Given the description of an element on the screen output the (x, y) to click on. 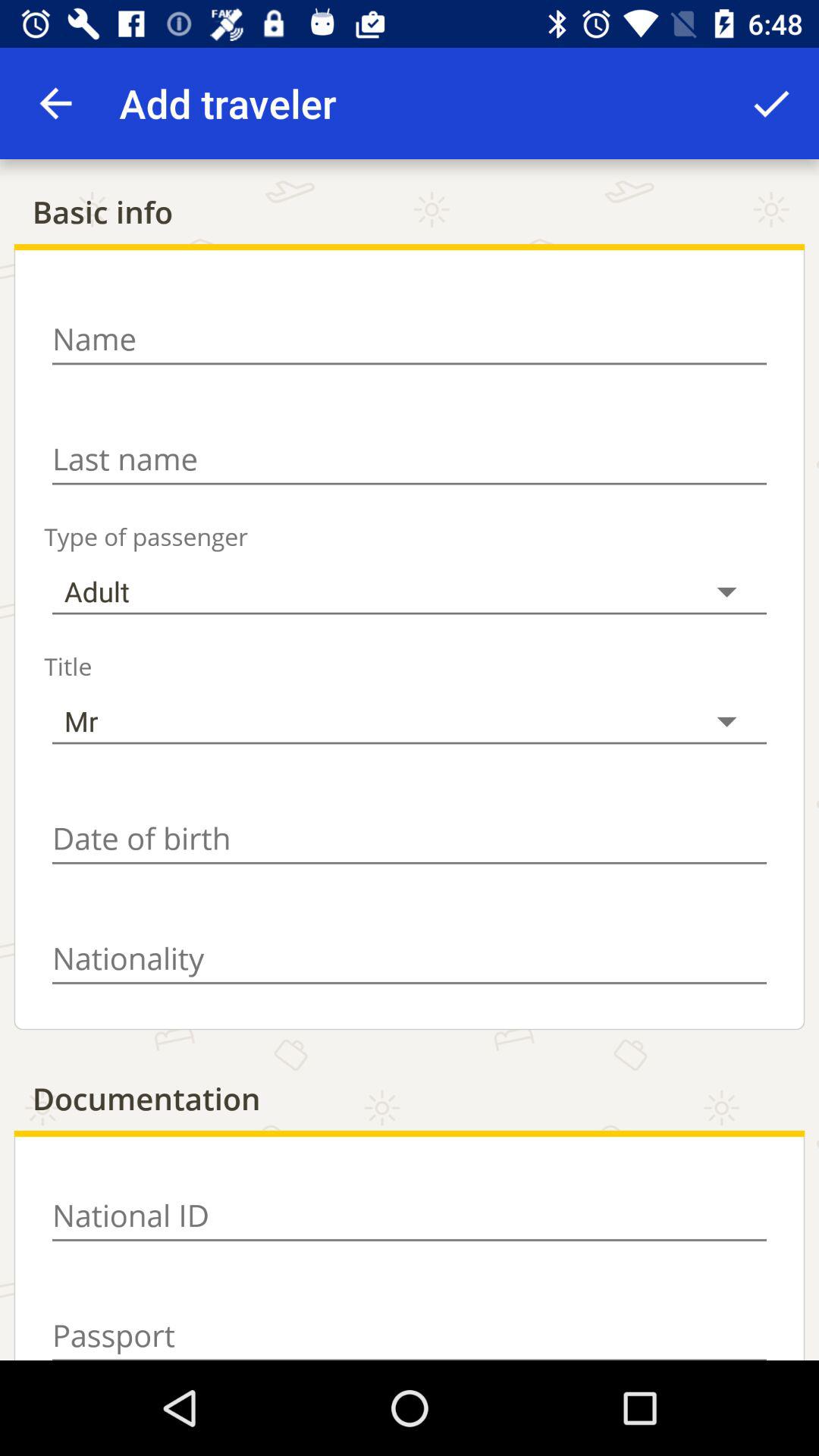
enter nationality (409, 958)
